Given the description of an element on the screen output the (x, y) to click on. 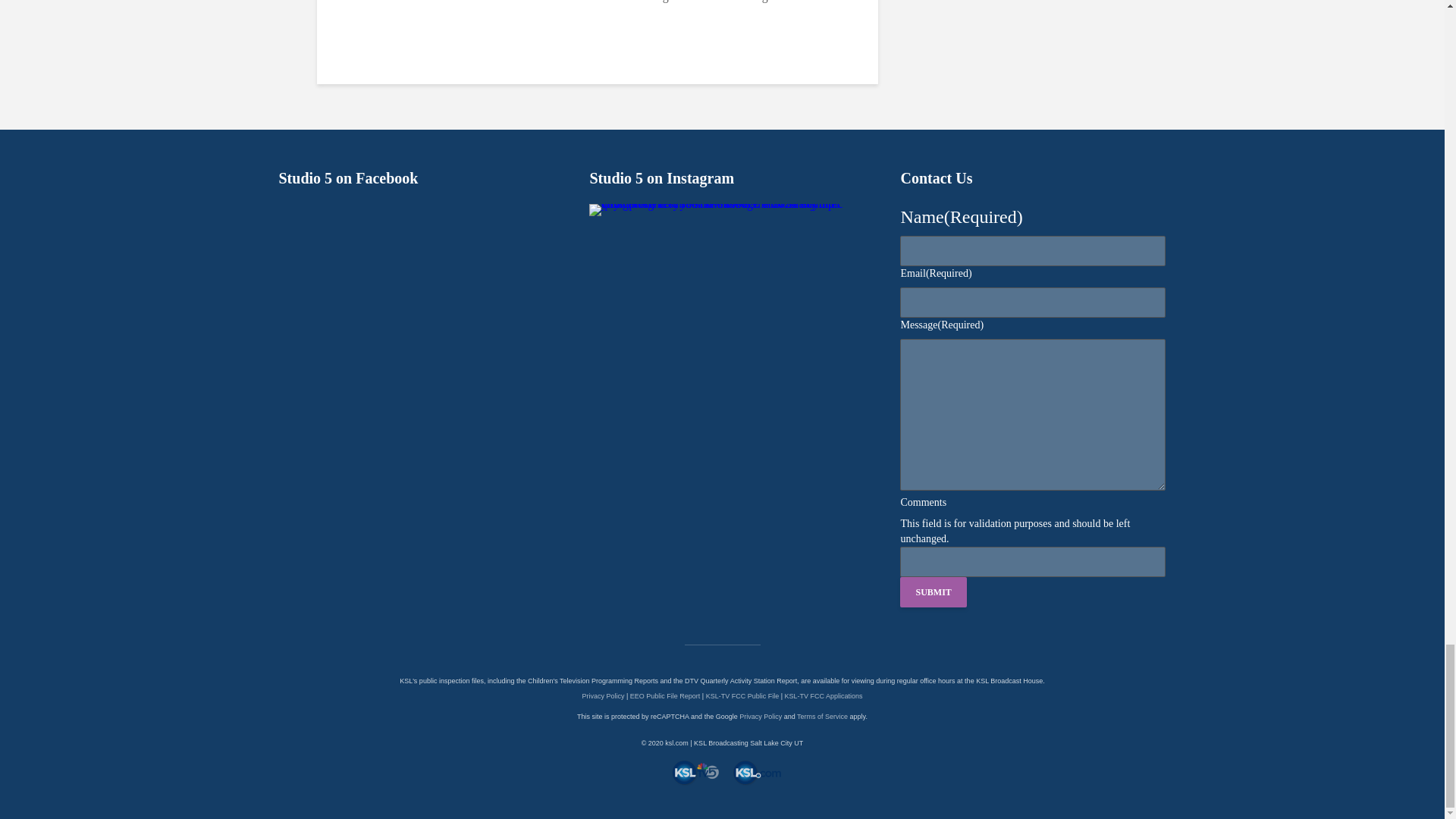
Submit (932, 592)
